Given the description of an element on the screen output the (x, y) to click on. 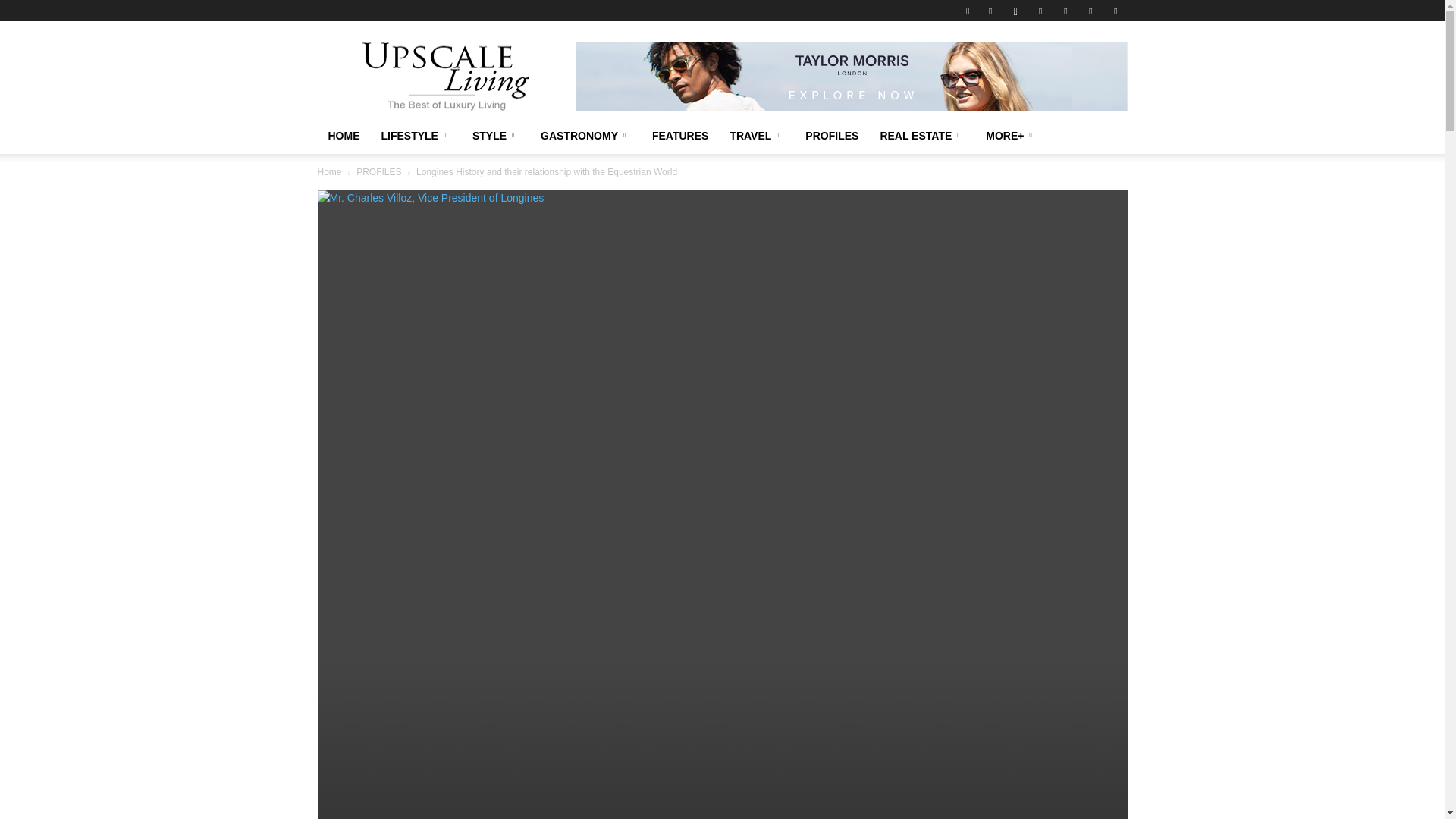
Pinterest (1065, 10)
Facebook (989, 10)
Linkedin (1040, 10)
Instagram (1015, 10)
